Given the description of an element on the screen output the (x, y) to click on. 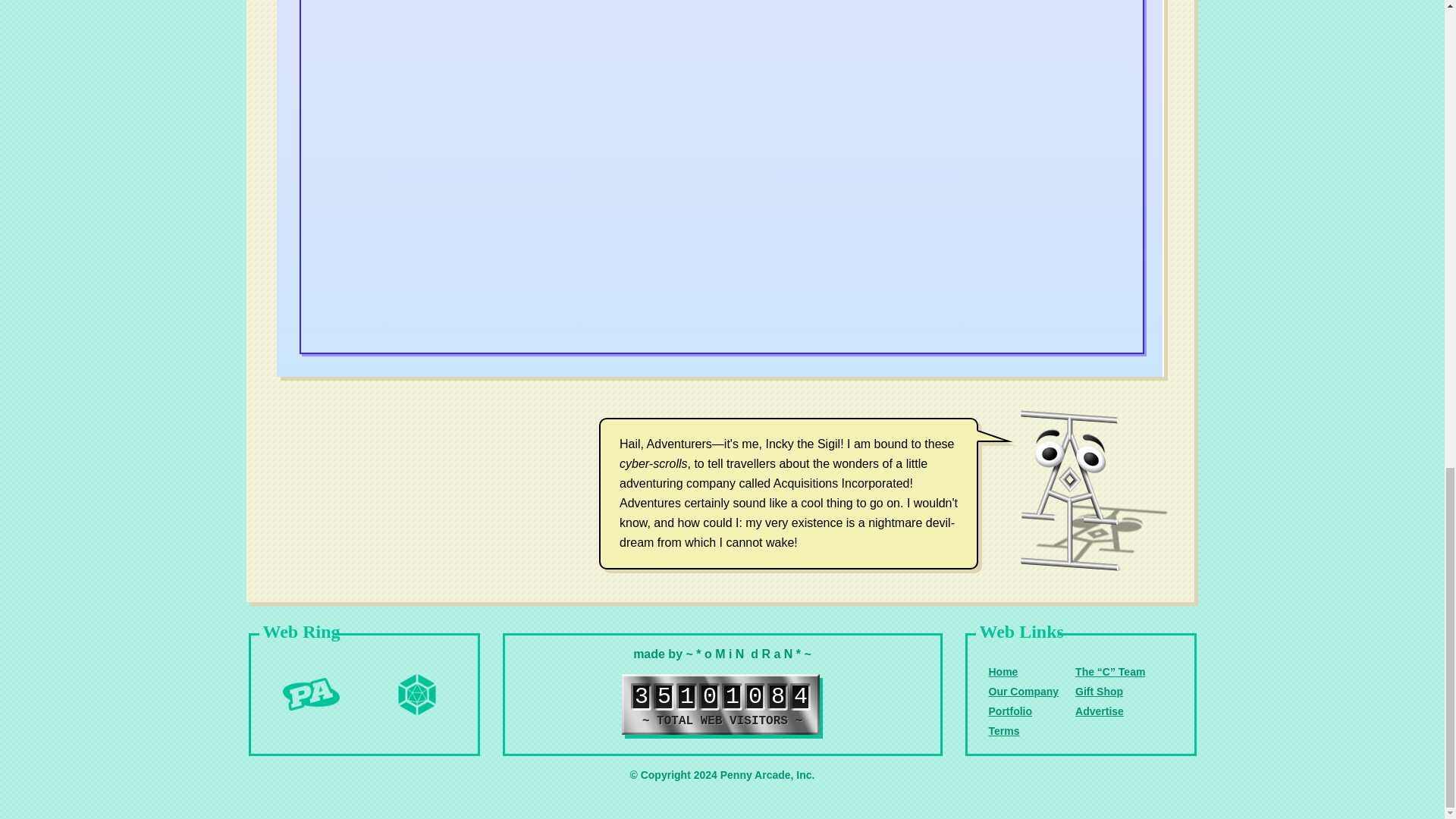
Level Up Dice (416, 694)
Penny Arcade (310, 694)
Level Up Dice (416, 694)
Gift Shop (1098, 691)
Gift Shop (1098, 691)
Advertise (1099, 711)
Home (1002, 671)
Portfolio (1010, 711)
Terms (1004, 730)
Penny Arcade (310, 694)
Portfolio (1010, 711)
Advertise (1099, 711)
Home (1002, 671)
Our Company (1023, 691)
Our Company (1023, 691)
